Given the description of an element on the screen output the (x, y) to click on. 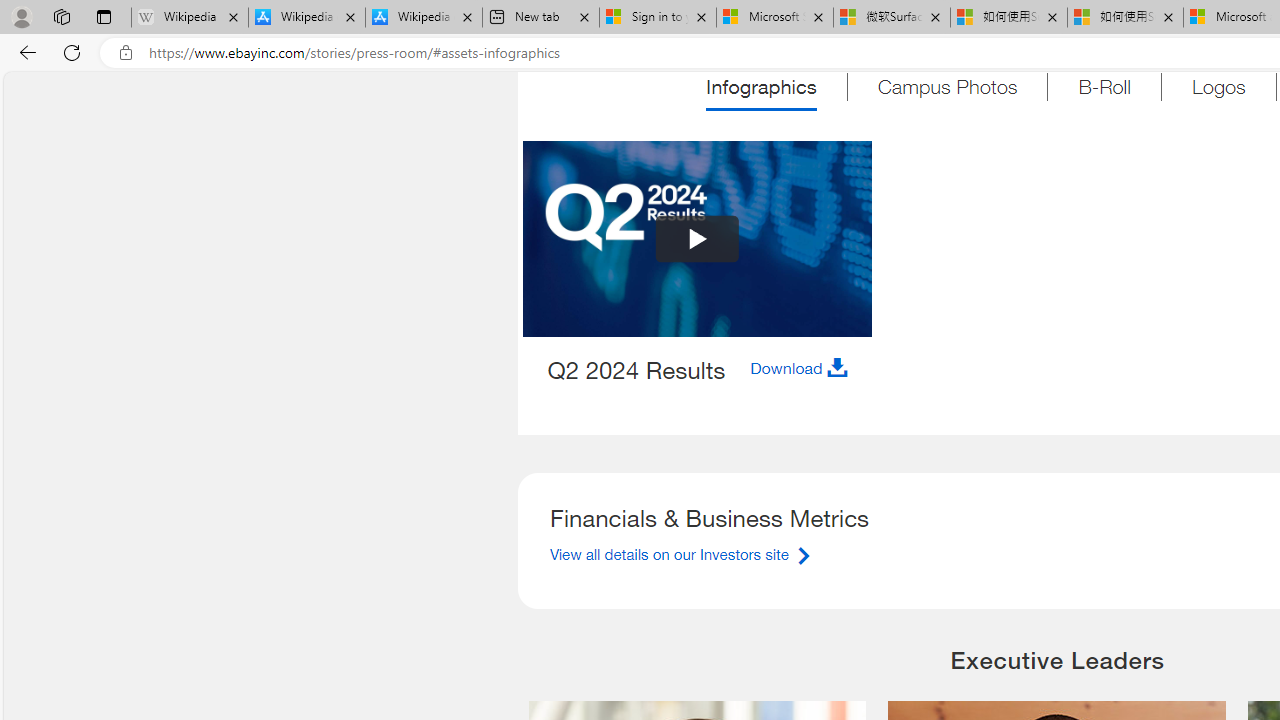
Microsoft Services Agreement (774, 17)
Wikipedia - Sleeping (189, 17)
Sign in to your Microsoft account (657, 17)
